Given the description of an element on the screen output the (x, y) to click on. 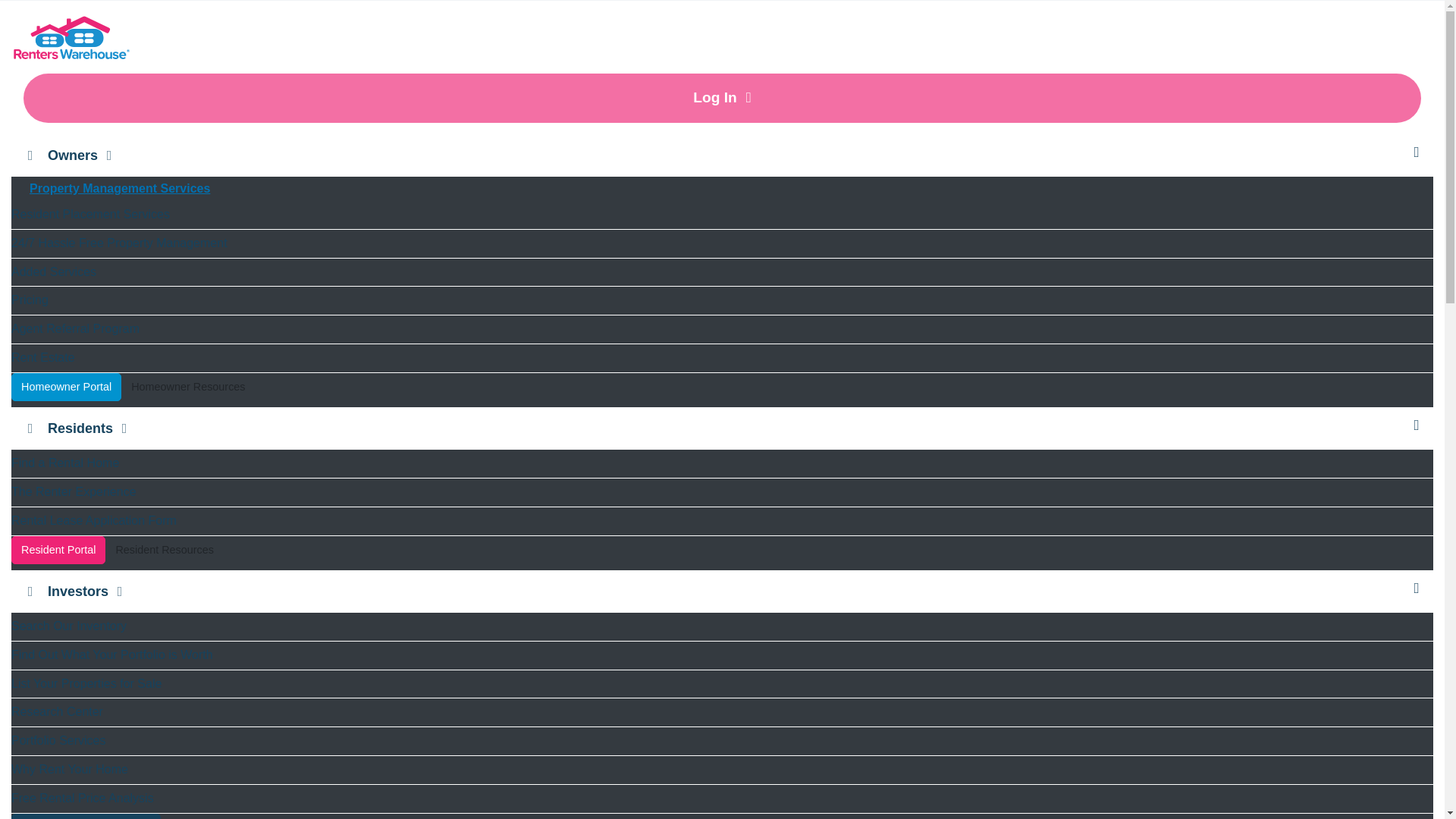
Research Center (721, 712)
Owners (721, 155)
Log In (211, 816)
Homeowner Portal (65, 387)
Resident Portal (57, 550)
Pricing (721, 300)
Homeowner Resources (187, 390)
Portfolio Services (721, 741)
The Renter Experience (721, 492)
Log In (722, 97)
